Given the description of an element on the screen output the (x, y) to click on. 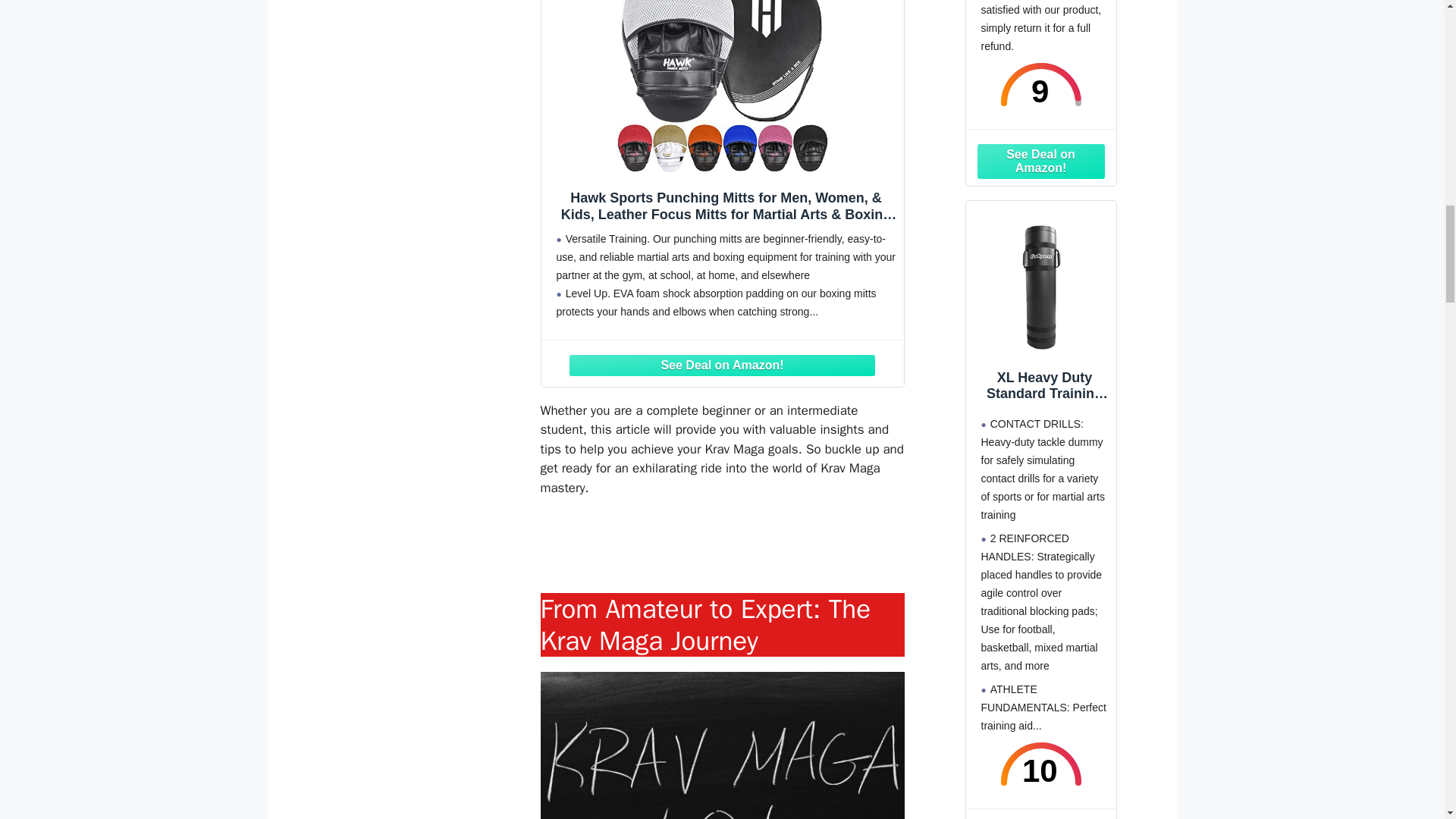
9 (1040, 84)
10 (1040, 763)
